Given the description of an element on the screen output the (x, y) to click on. 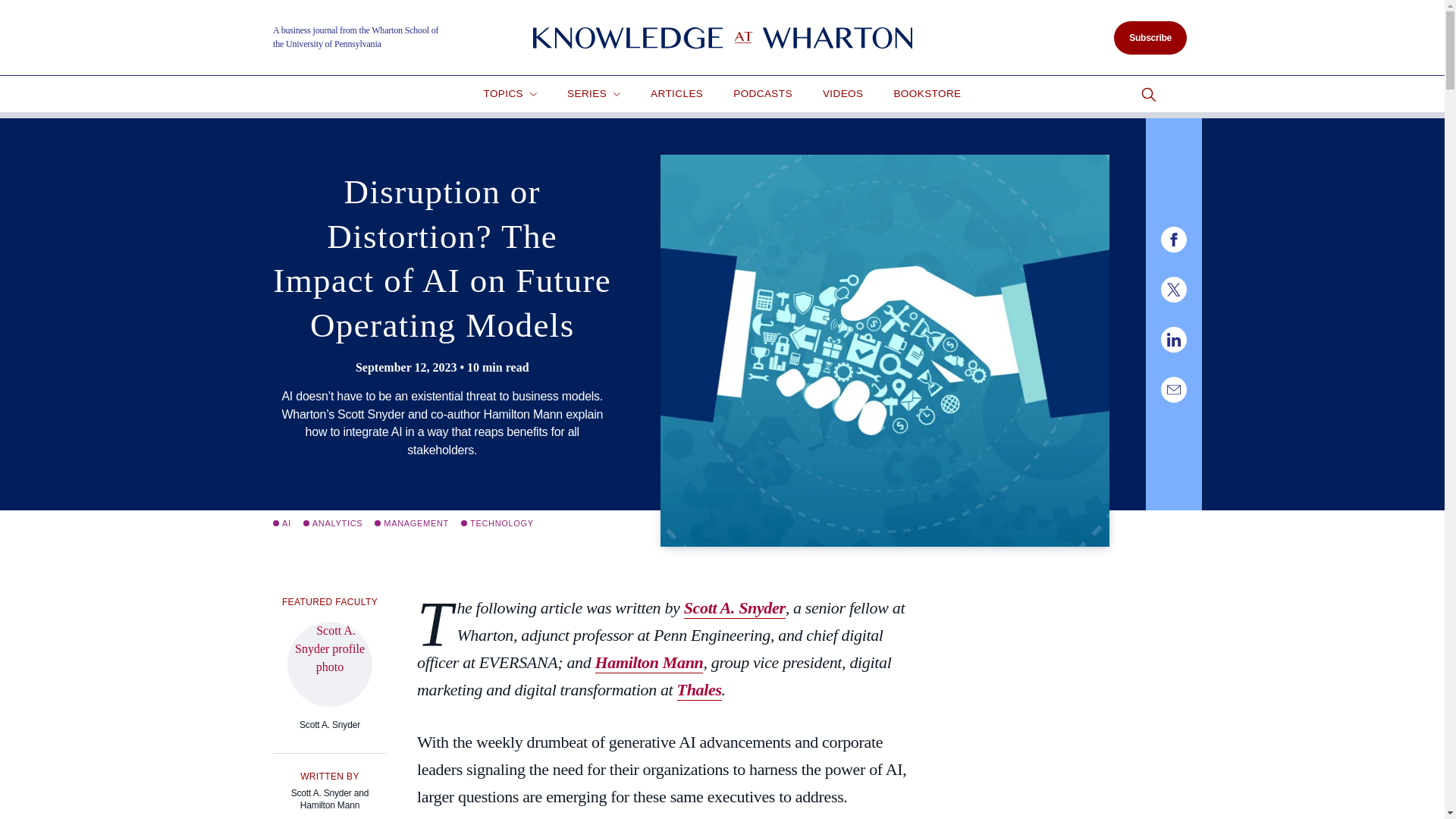
Go to site search (1148, 94)
Share this page on LinkedIn (1173, 339)
Share this page on Twitter (1173, 289)
Knowledge at Wharton (721, 37)
Share this page on Facebook (1173, 239)
Subscribe (1149, 37)
Share this page by email (1173, 389)
